Given the description of an element on the screen output the (x, y) to click on. 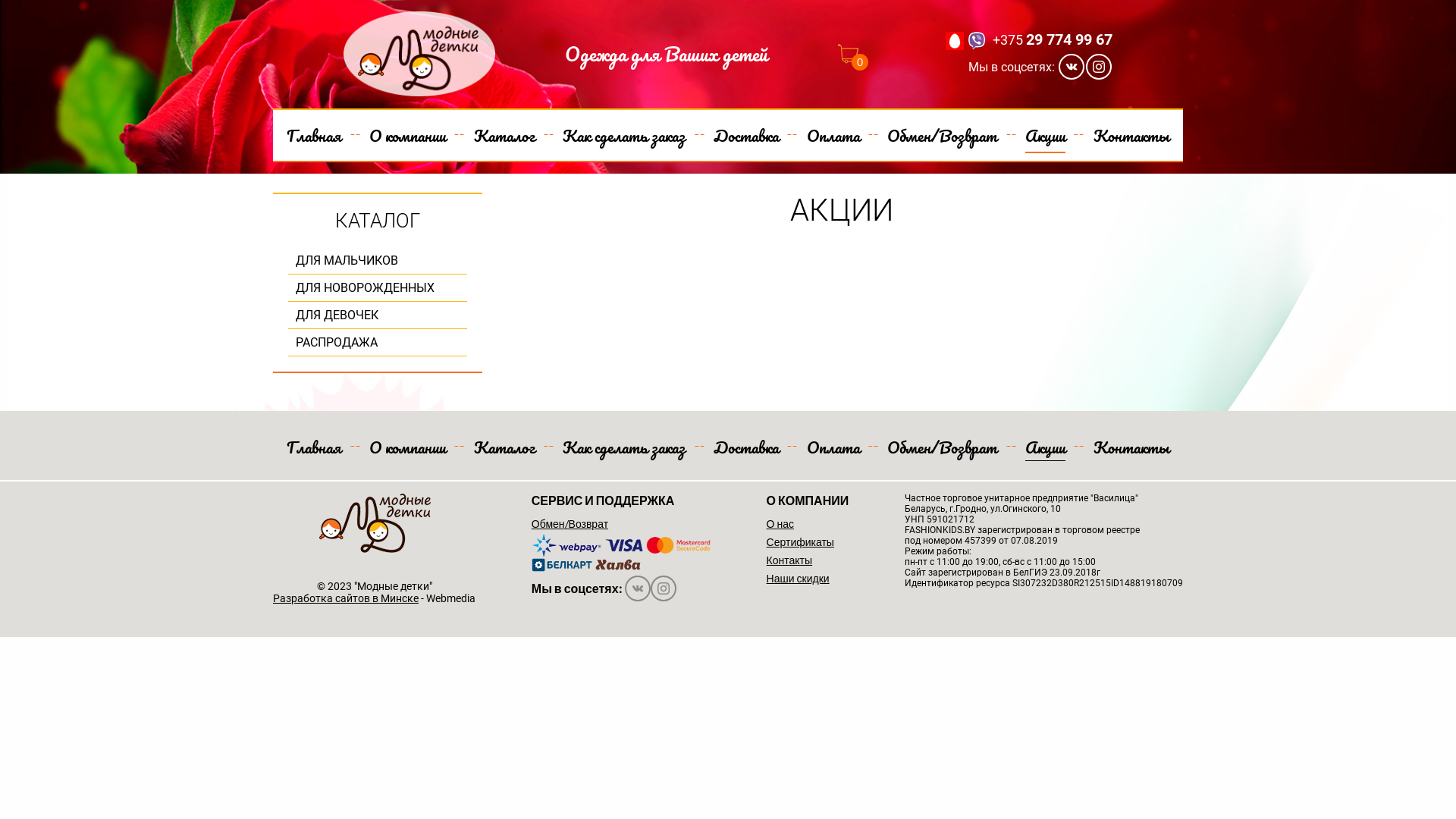
+375 29 774 99 67 Element type: text (1052, 39)
